Given the description of an element on the screen output the (x, y) to click on. 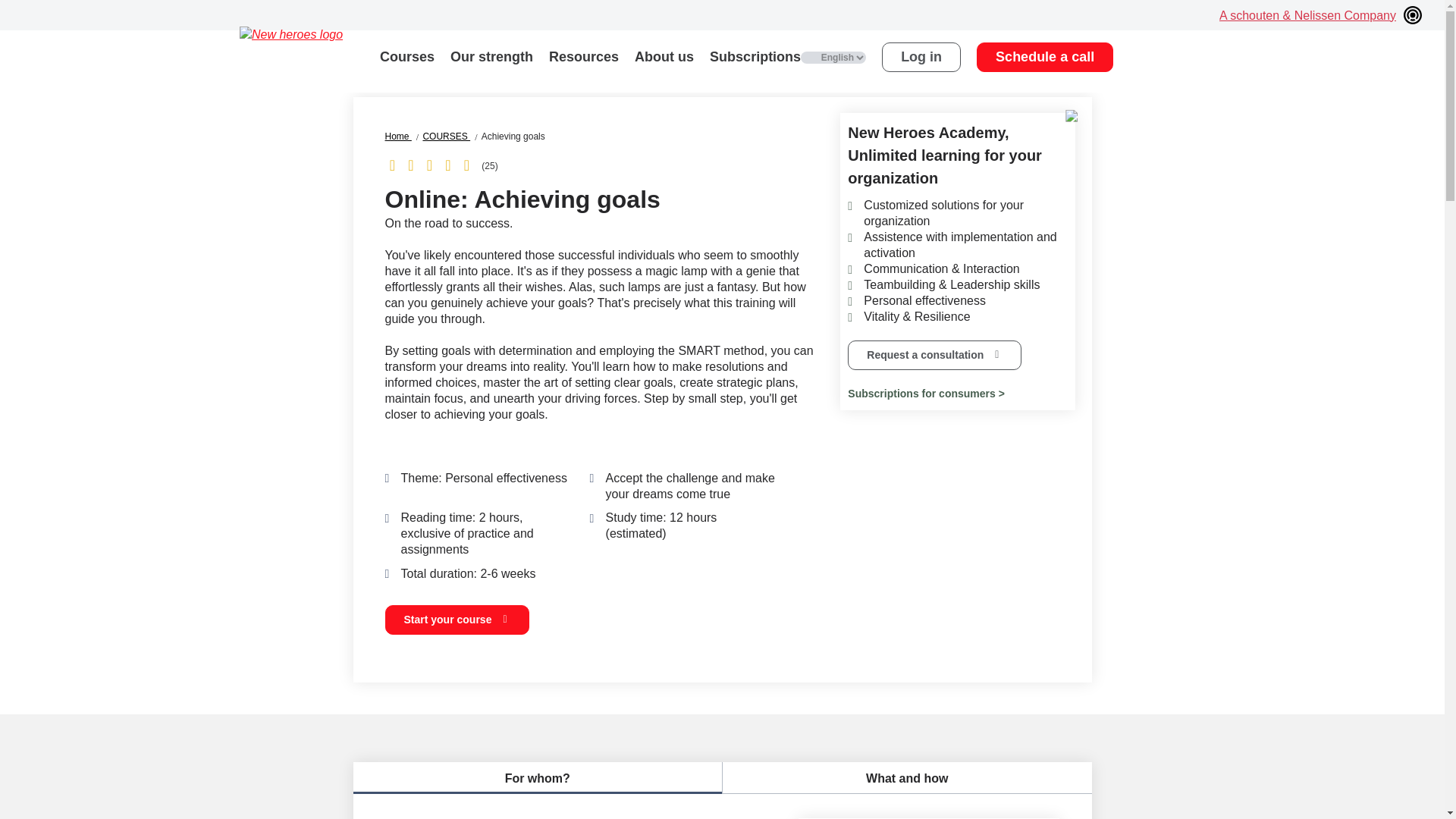
For whom? (537, 777)
Resources (583, 56)
Schedule a call (1044, 57)
Our strength (490, 56)
Schedule a call (1044, 57)
Request a consultation (934, 355)
What and how (907, 777)
Start your course (457, 619)
Home (400, 136)
